Given the description of an element on the screen output the (x, y) to click on. 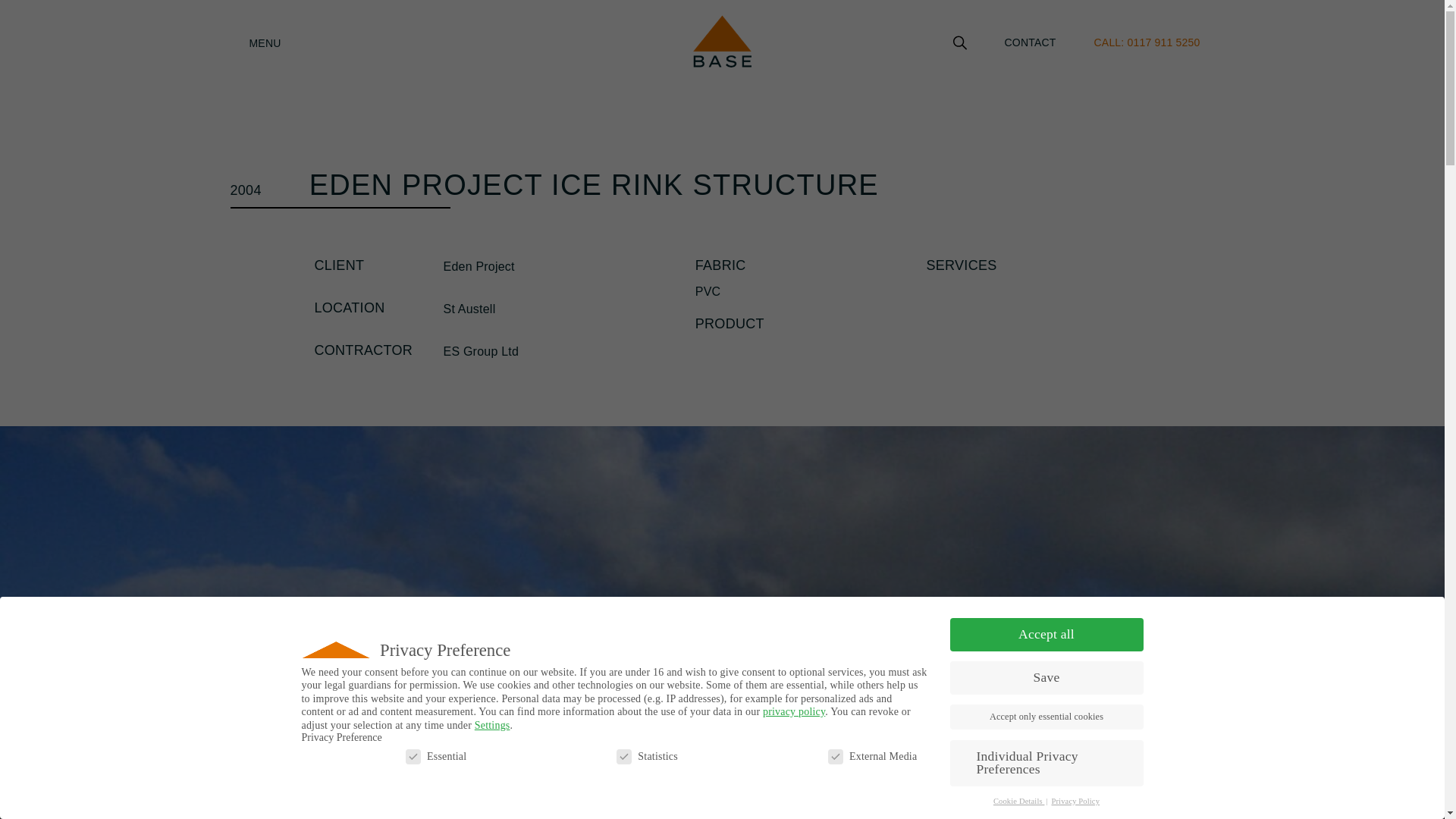
CONTACT (1030, 42)
MENU (301, 42)
CALL: 0117 911 5250 (1146, 42)
